Given the description of an element on the screen output the (x, y) to click on. 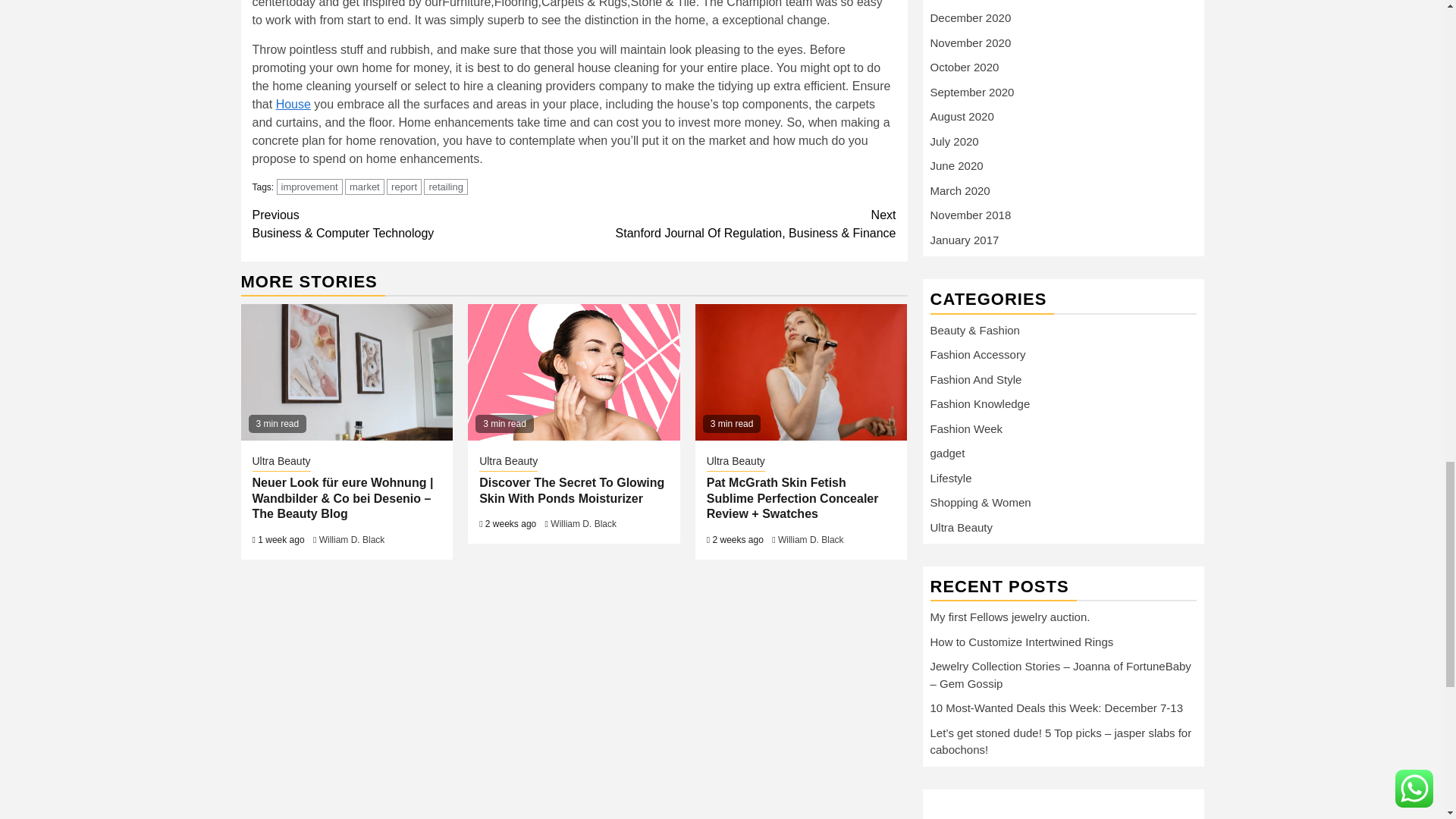
Discover The Secret To Glowing Skin With Ponds Moisturizer (573, 371)
House (293, 103)
retailing (445, 186)
report (404, 186)
market (364, 186)
improvement (309, 186)
